Given the description of an element on the screen output the (x, y) to click on. 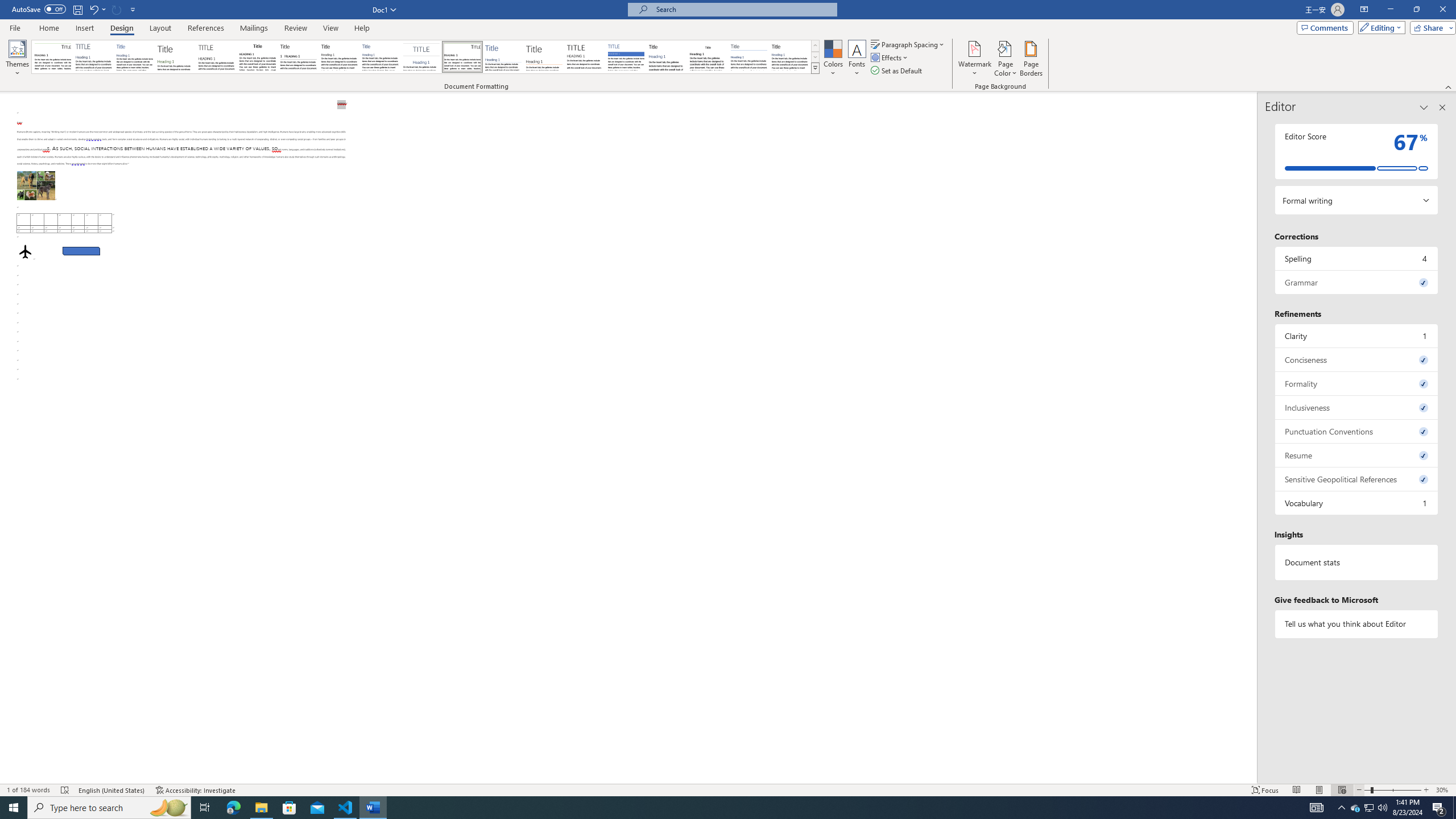
Vocabulary, 1 issue. Press space or enter to review items. (1356, 502)
Page Borders... (1031, 58)
Word Count 1 of 184 words (28, 790)
Centered (421, 56)
Spelling and Grammar Check Errors (65, 790)
AutoSave (38, 9)
Black & White (Word 2013) (338, 56)
Grammar, 0 issues. Press space or enter to review items. (1356, 282)
Restore Down (1416, 9)
Page Color (1005, 58)
Save (77, 9)
Mailings (253, 28)
Row up (814, 45)
